Given the description of an element on the screen output the (x, y) to click on. 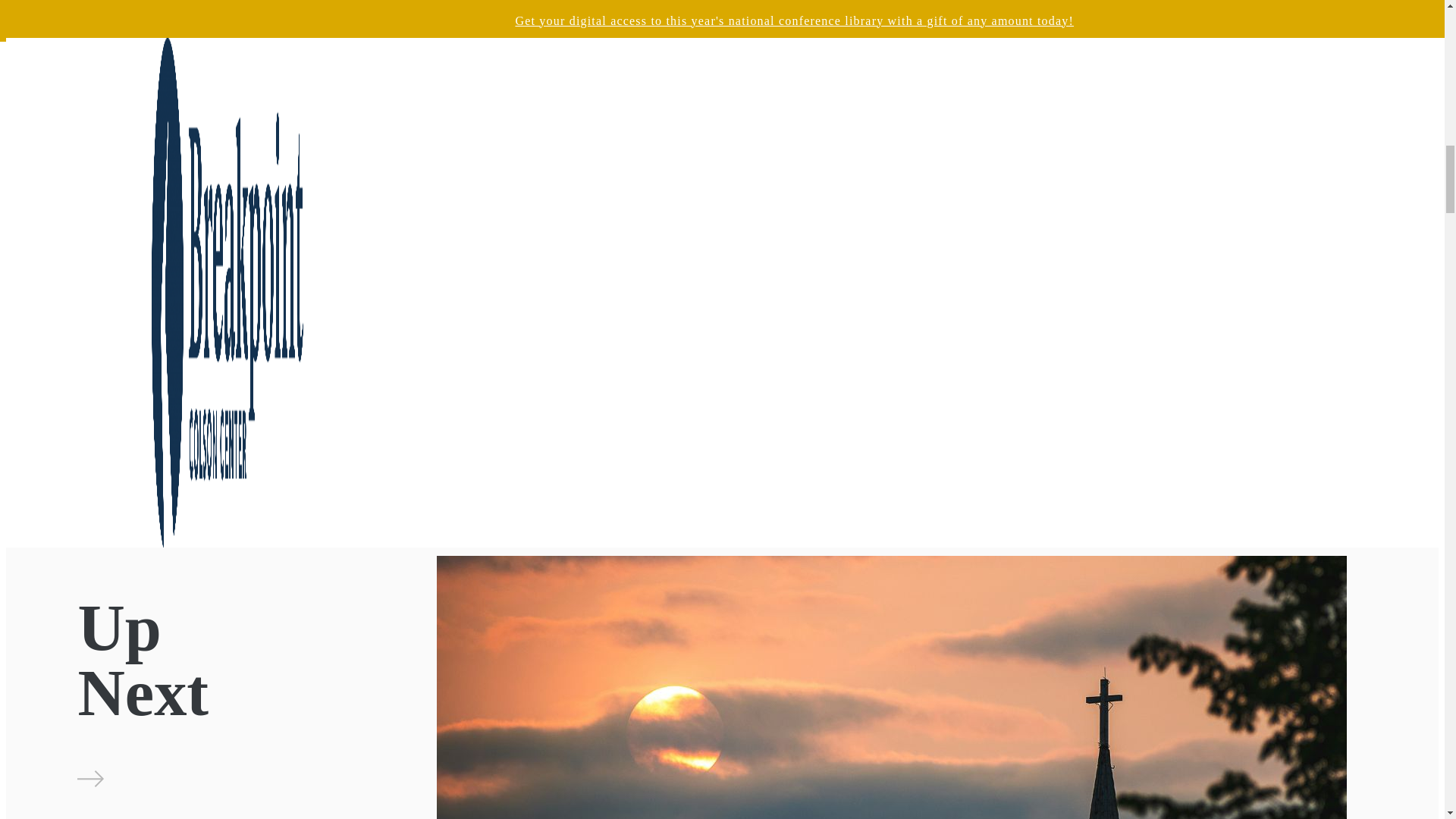
Posts by John Stonestreet (1152, 625)
